Given the description of an element on the screen output the (x, y) to click on. 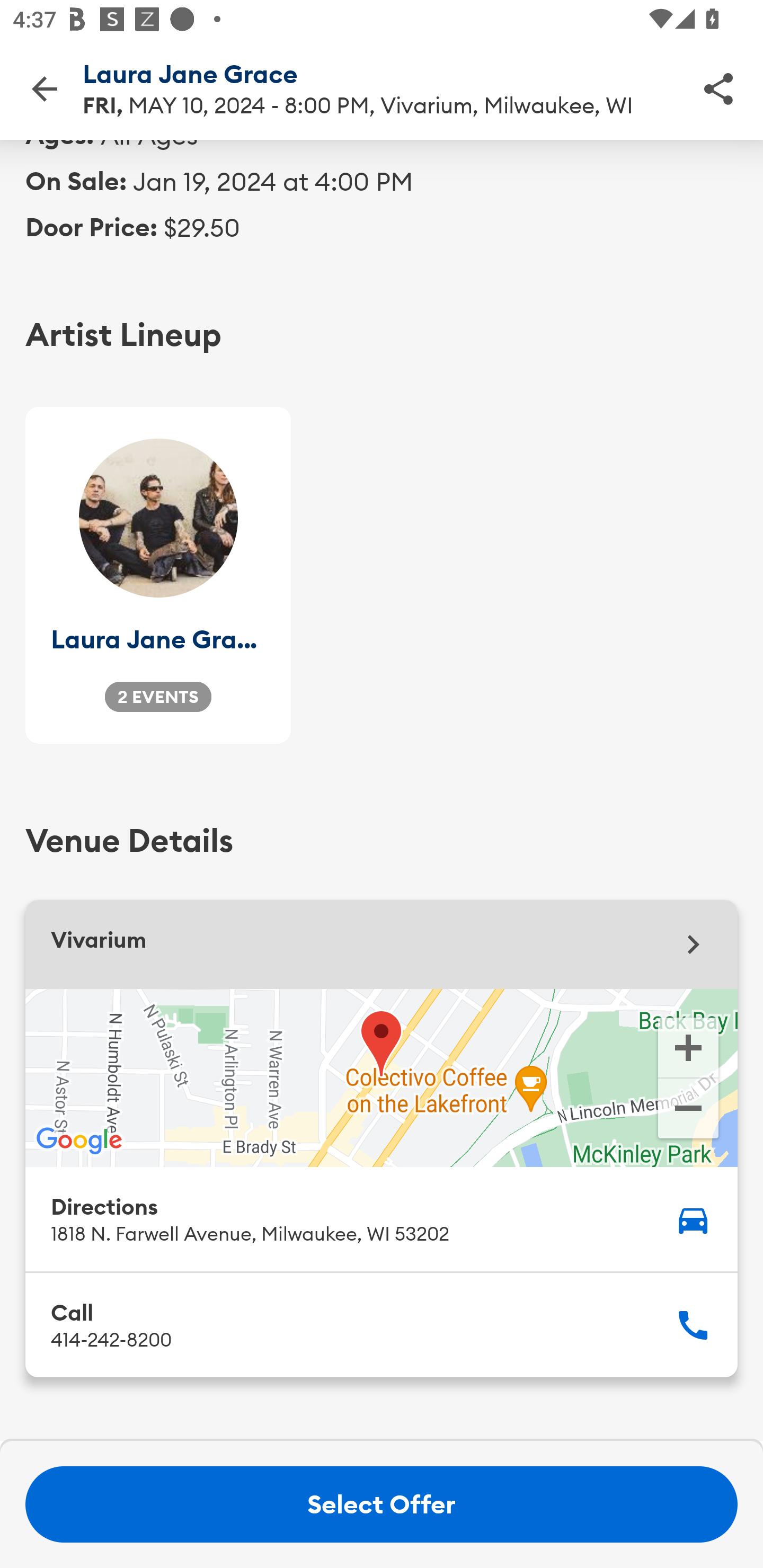
BackButton (44, 88)
Share (718, 88)
Laura Jane Grace 2 EVENTS (157, 574)
Vivarium (381, 944)
Google Map Vivarium.  Zoom in Zoom out (381, 1077)
Zoom in (687, 1046)
Zoom out (687, 1110)
Call 414-242-8200 (381, 1324)
Select Offer (381, 1504)
